Given the description of an element on the screen output the (x, y) to click on. 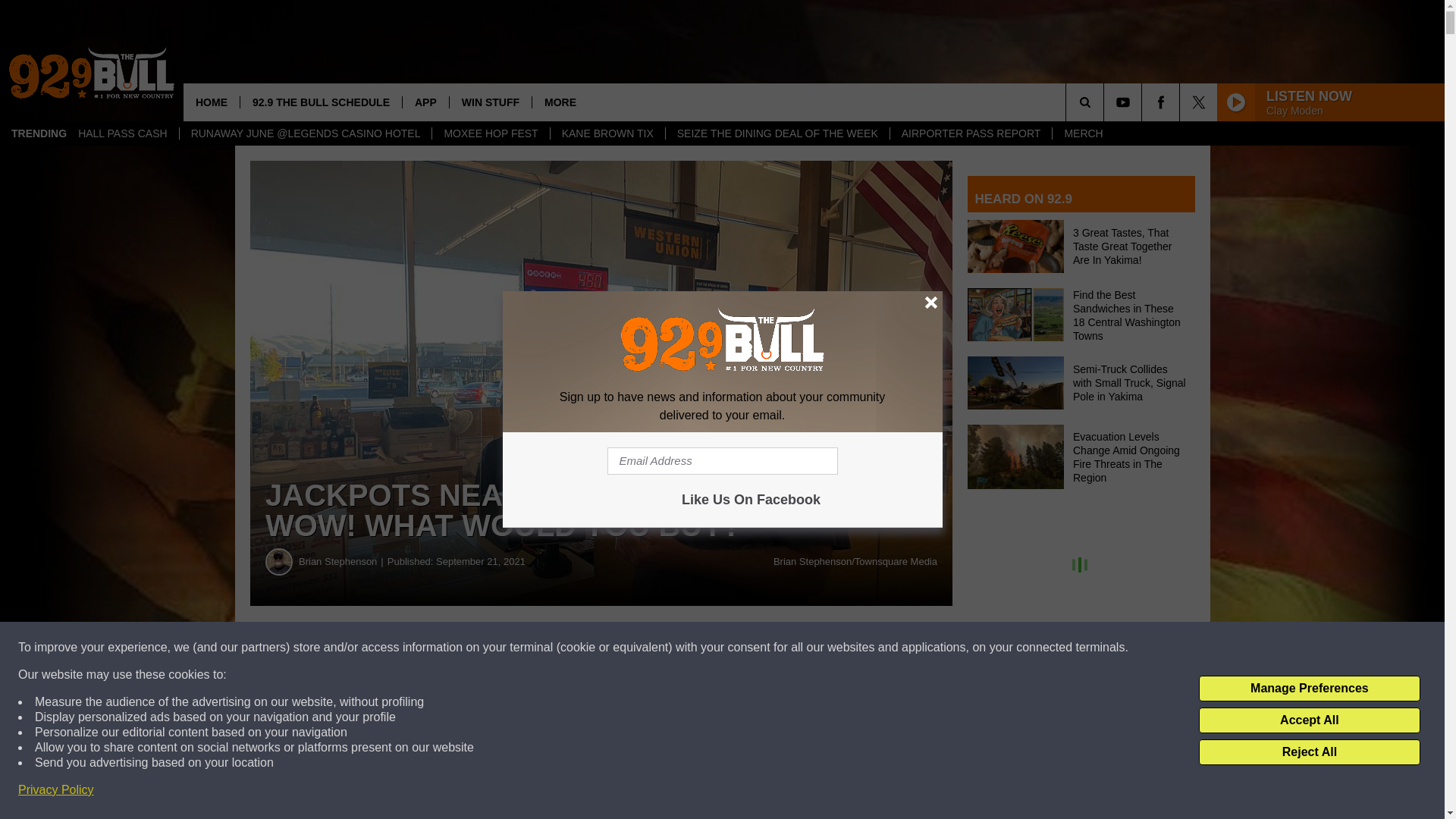
APP (424, 102)
Privacy Policy (55, 789)
HALL PASS CASH (122, 133)
Reject All (1309, 751)
KANE BROWN TIX (607, 133)
MOXEE HOP FEST (489, 133)
SEARCH (1106, 102)
Accept All (1309, 720)
Email Address (722, 461)
SEARCH (1106, 102)
SEIZE THE DINING DEAL OF THE WEEK (777, 133)
Manage Preferences (1309, 688)
MERCH (1082, 133)
AIRPORTER PASS REPORT (970, 133)
Share on Facebook (460, 647)
